Given the description of an element on the screen output the (x, y) to click on. 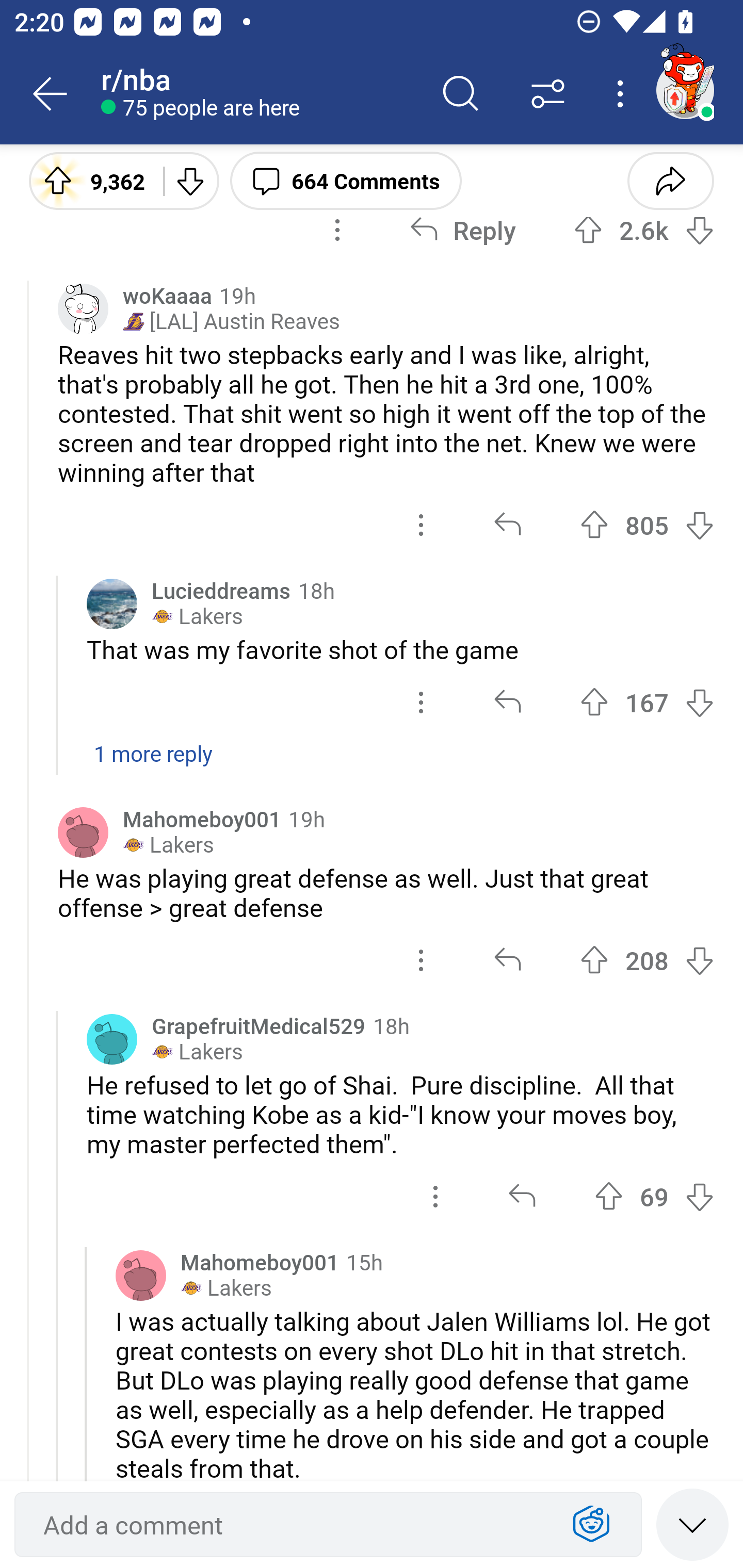
Back (50, 93)
TestAppium002 account (685, 90)
Search comments (460, 93)
Sort comments (547, 93)
More options (623, 93)
r/nba 75 people are here (259, 93)
Upvote 9,362 (88, 180)
Downvote (189, 180)
664 Comments (346, 180)
Share (670, 180)
options (337, 230)
Reply (462, 230)
Upvote 2.6k 2617 votes Downvote (643, 230)
Upvote (587, 230)
Downvote (699, 230)
19h (237, 295)
Custom avatar (82, 308)
￼ [LAL] Austin Reaves (231, 320)
options (420, 525)
Upvote 805 805 votes Downvote (647, 525)
Upvote (594, 525)
Downvote (699, 525)
18h (316, 590)
Avatar (111, 603)
￼ Lakers (196, 615)
That was my favorite shot of the game (400, 648)
options (420, 702)
Upvote 167 167 votes Downvote (647, 702)
Upvote (594, 702)
Downvote (699, 702)
1 more reply (371, 764)
19h (306, 819)
Avatar (82, 832)
￼ Lakers (167, 844)
options (420, 960)
Upvote 208 208 votes Downvote (647, 960)
Upvote (594, 960)
Downvote (699, 960)
18h (390, 1025)
Avatar (111, 1039)
￼ Lakers (196, 1051)
options (435, 1196)
Upvote 69 69 votes Downvote (654, 1196)
Upvote (608, 1196)
Downvote (699, 1196)
15h (364, 1261)
Avatar (140, 1275)
￼ Lakers (225, 1287)
Speed read (692, 1524)
Add a comment (291, 1524)
Show Expressions (590, 1524)
